Given the description of an element on the screen output the (x, y) to click on. 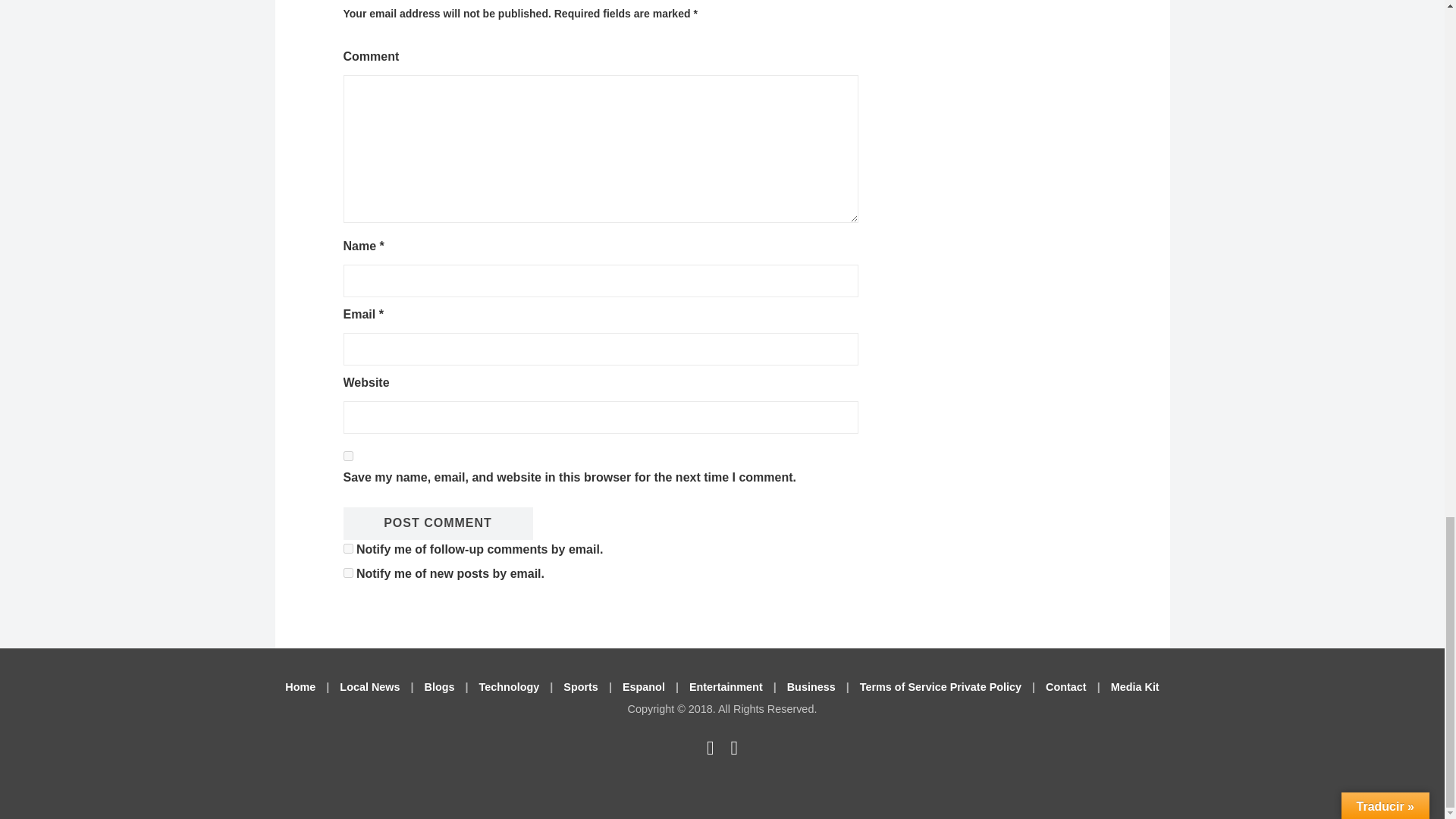
Technology (509, 686)
Entertainment (725, 686)
yes (347, 456)
Contact (1065, 686)
Business (811, 686)
Post Comment (437, 523)
Media Kit (1134, 686)
subscribe (347, 573)
Home (300, 686)
Terms of Service Private Policy (941, 686)
